Given the description of an element on the screen output the (x, y) to click on. 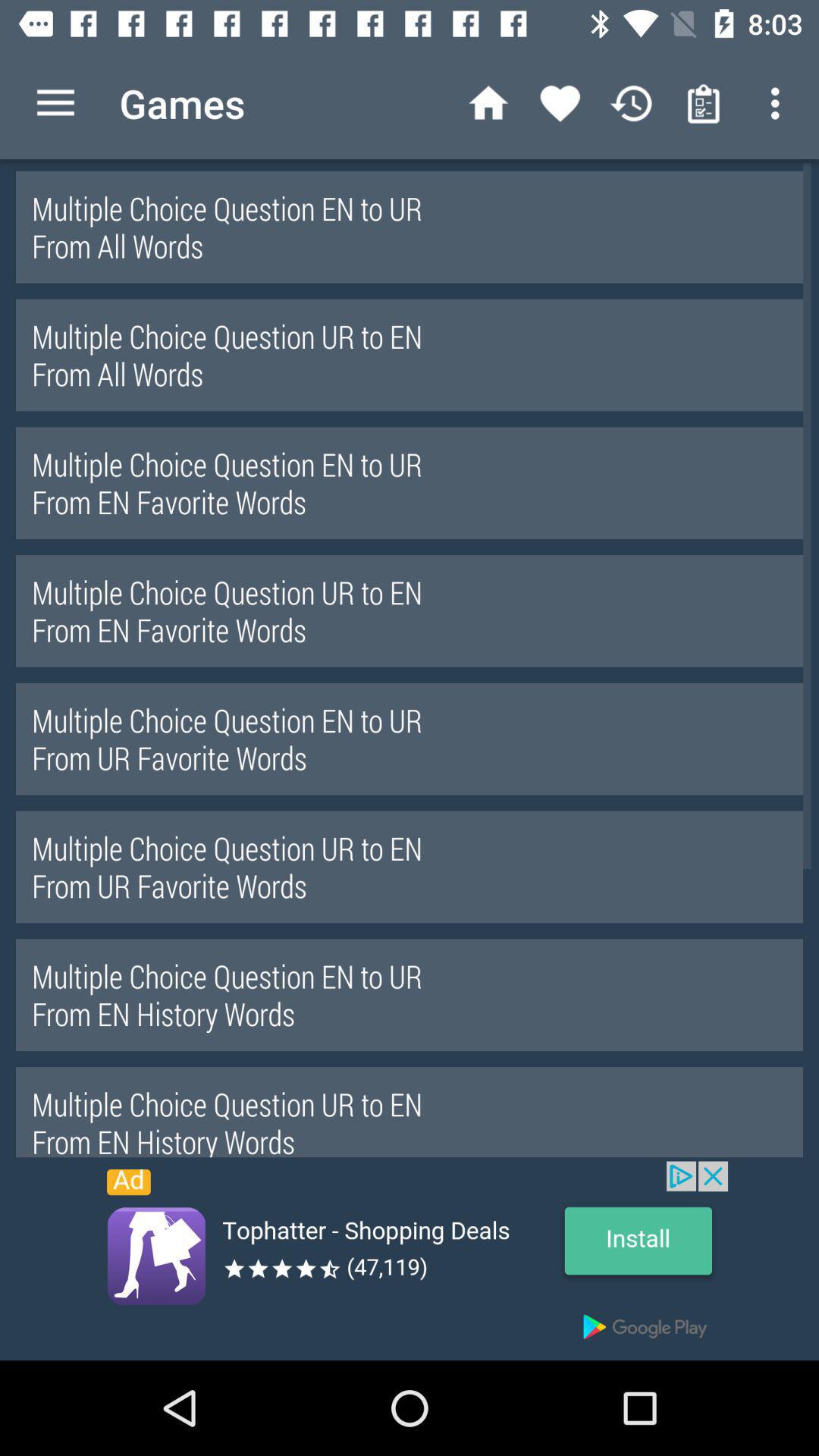
go to external advertisement page (409, 1260)
